Given the description of an element on the screen output the (x, y) to click on. 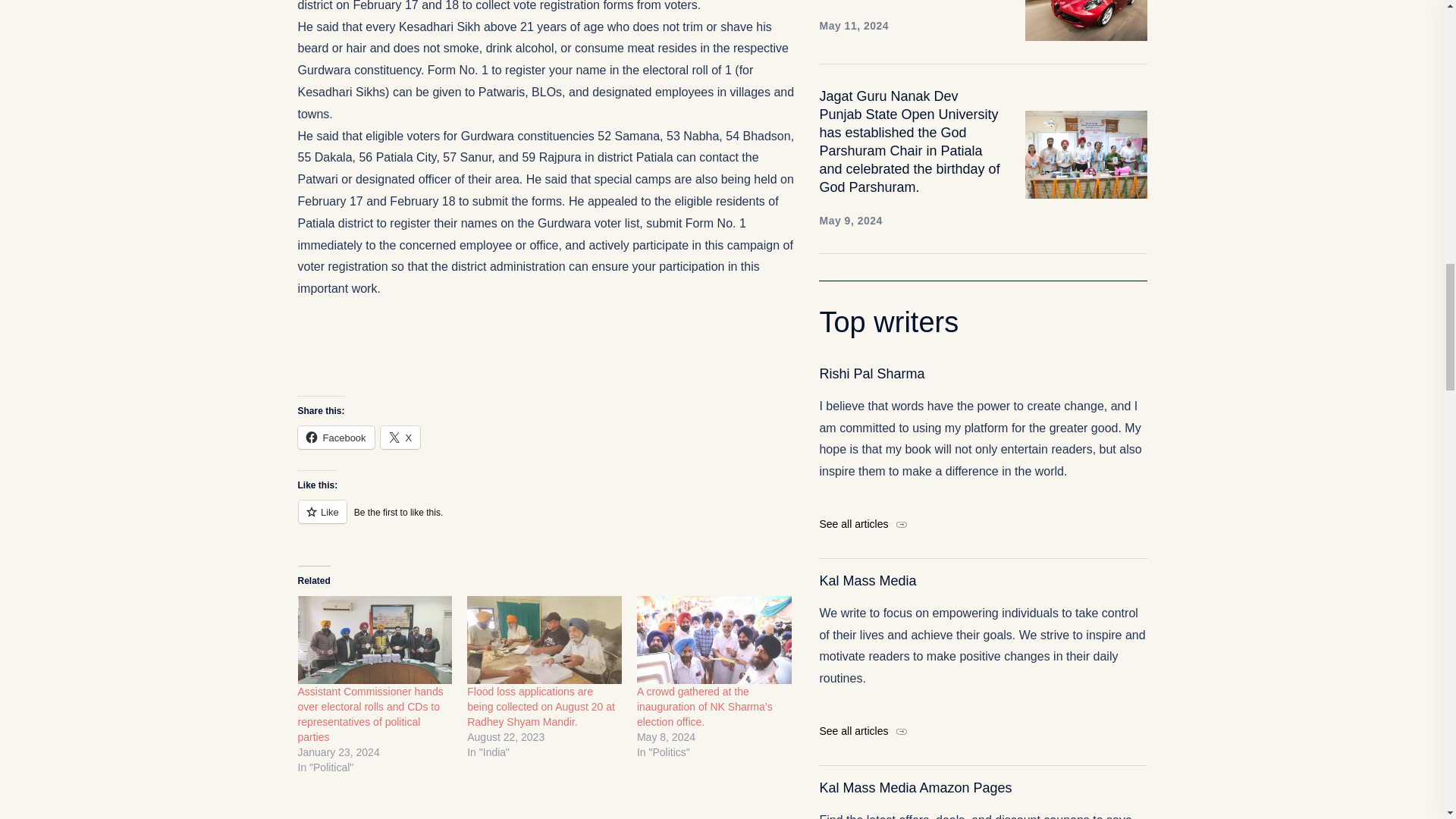
Click to share on X (400, 436)
Like or Reblog (546, 520)
Click to share on Facebook (335, 436)
